Given the description of an element on the screen output the (x, y) to click on. 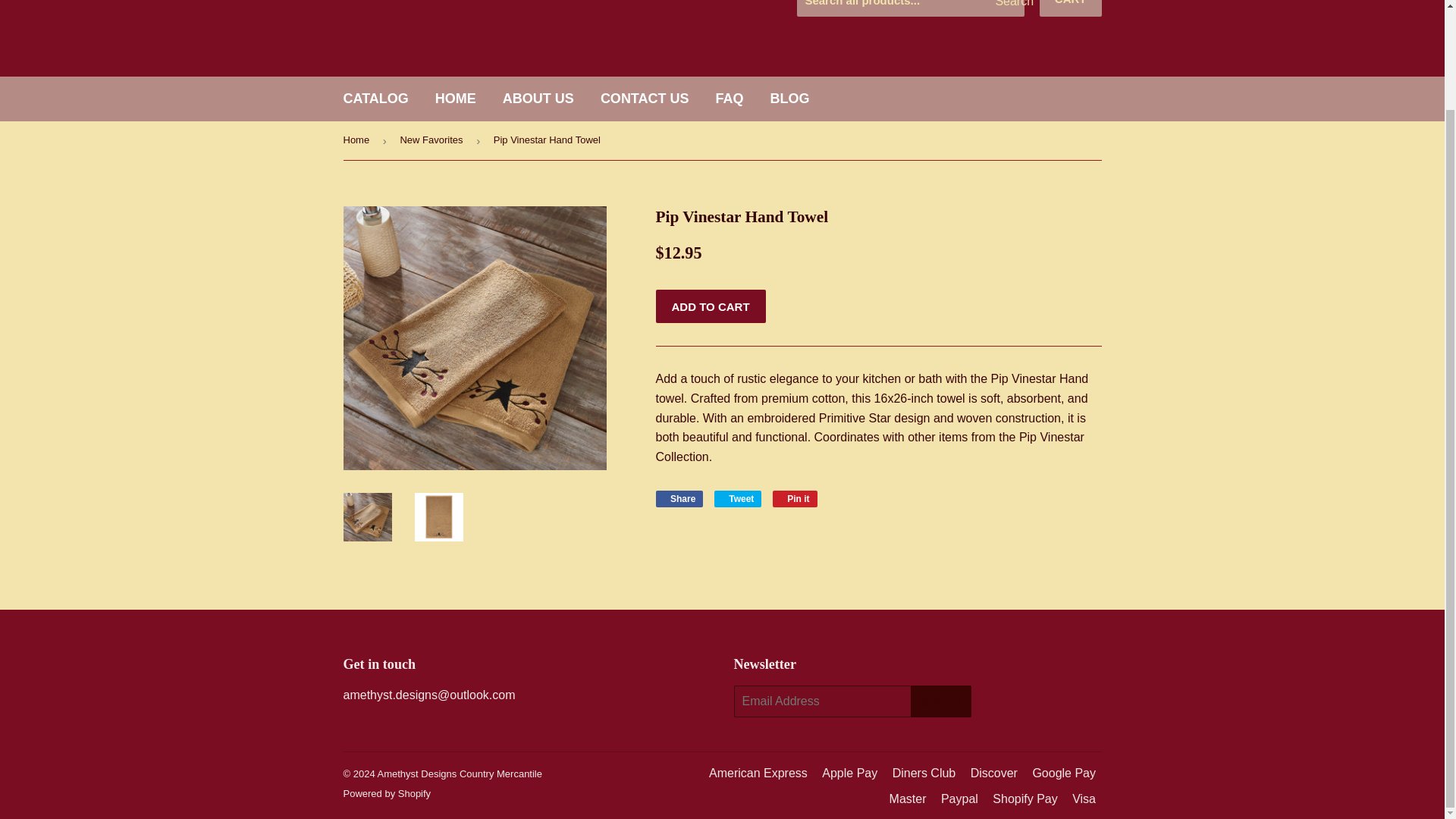
BLOG (789, 98)
Share on Facebook (679, 498)
Tweet on Twitter (737, 498)
FAQ (679, 498)
Search (729, 98)
CART (1007, 8)
CATALOG (737, 498)
Pin on Pinterest (1070, 8)
